Given the description of an element on the screen output the (x, y) to click on. 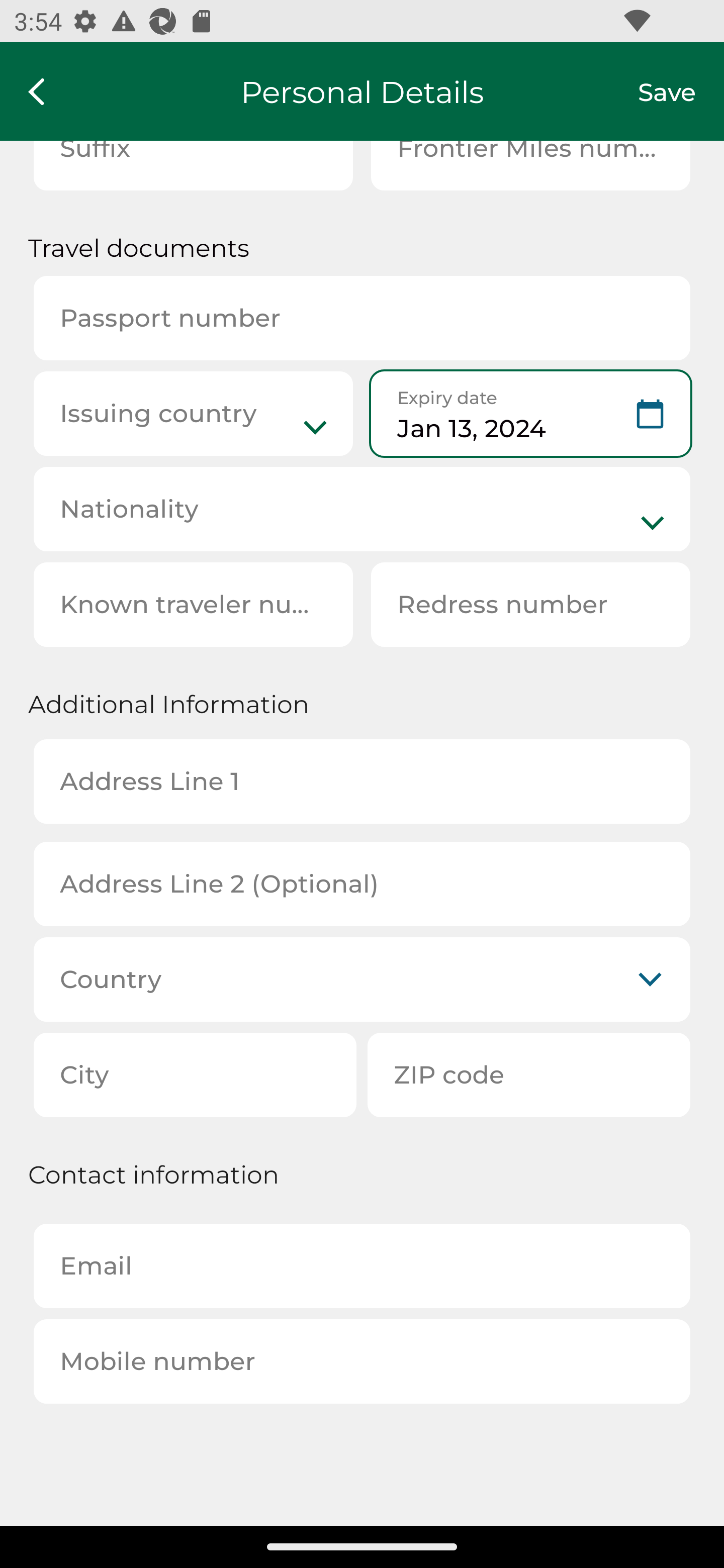
Save (680, 91)
Passport number (361, 318)
Issuing country (192, 413)
Jan 13, 2024 (530, 413)
Nationality (361, 508)
Known traveler number (192, 604)
Redress number (530, 604)
Address Line 1 (361, 781)
Address Line 2 (Optional) (361, 884)
Country (361, 978)
City (194, 1074)
ZIP code (528, 1074)
Email (361, 1265)
Mobile number (361, 1360)
